Given the description of an element on the screen output the (x, y) to click on. 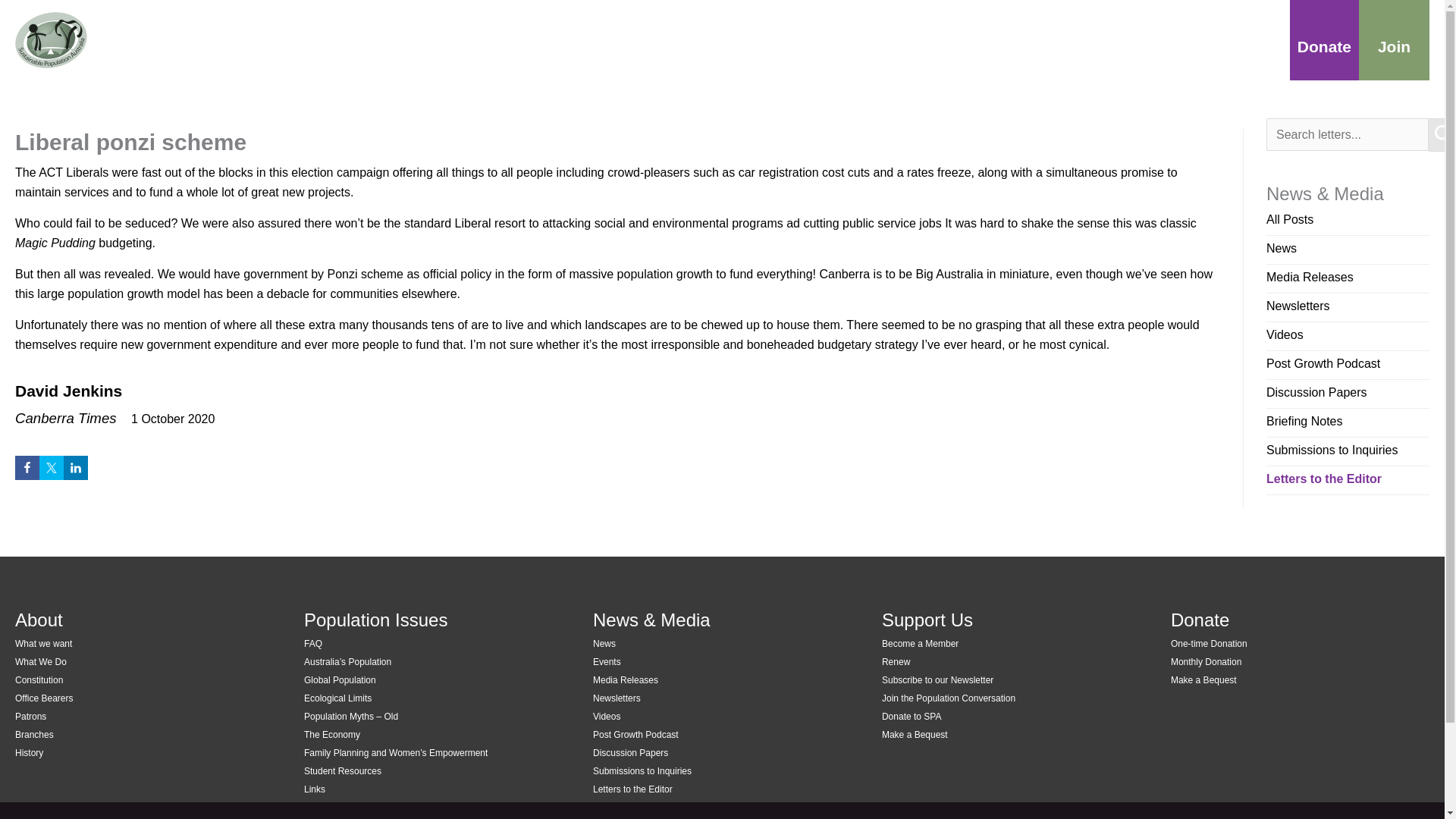
Population Issues (942, 40)
Share on Facebook (26, 467)
Share on Twitter (51, 467)
Sustainable Population Australia (150, 39)
Share on LinkedIn (75, 467)
